Given the description of an element on the screen output the (x, y) to click on. 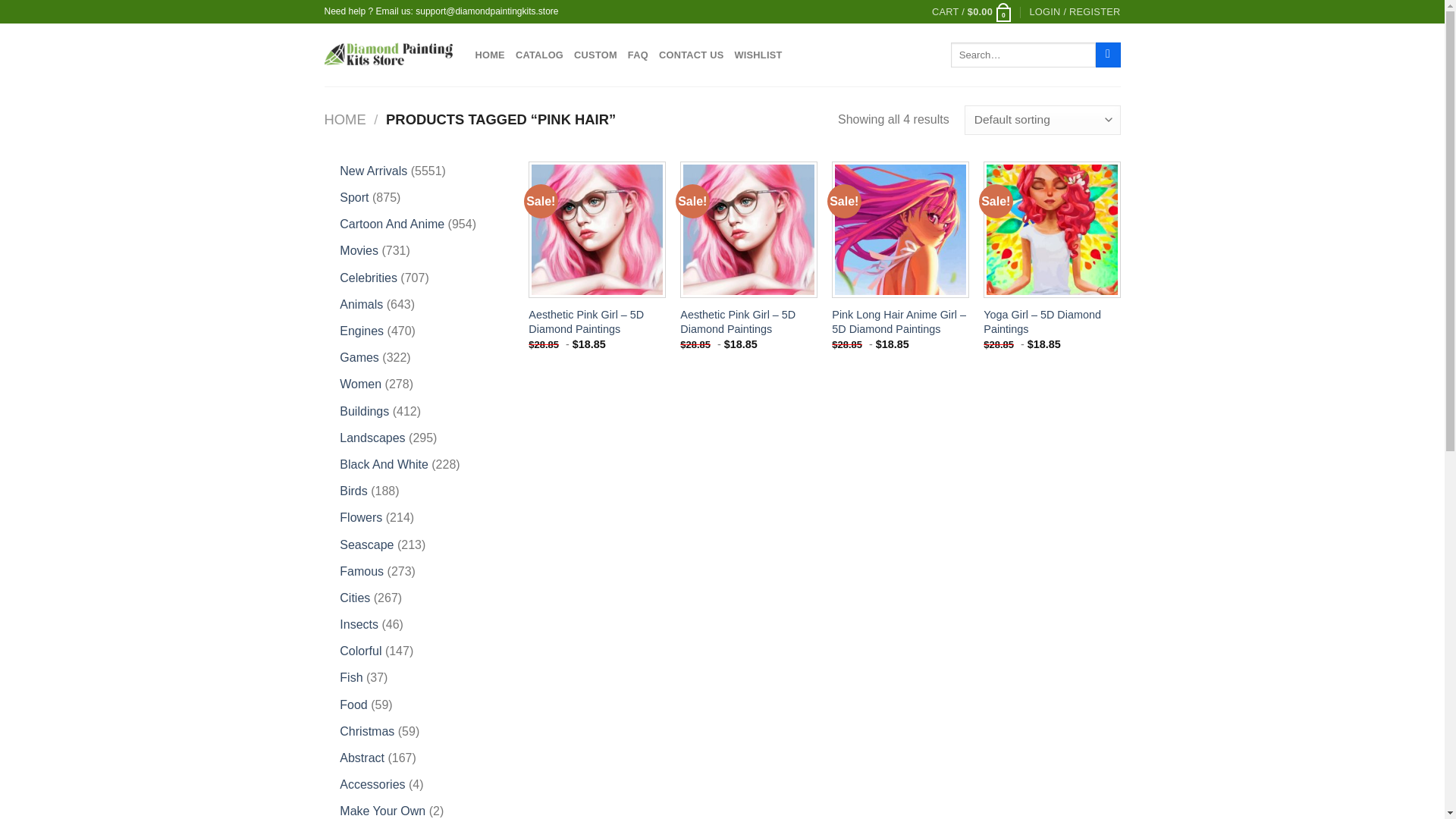
Fish (350, 676)
WISHLIST (757, 53)
Sport (353, 196)
HOME (345, 119)
Abstract (361, 757)
New Arrivals (373, 170)
Movies (358, 250)
Games (358, 357)
Search (1108, 54)
Cart (971, 11)
